Given the description of an element on the screen output the (x, y) to click on. 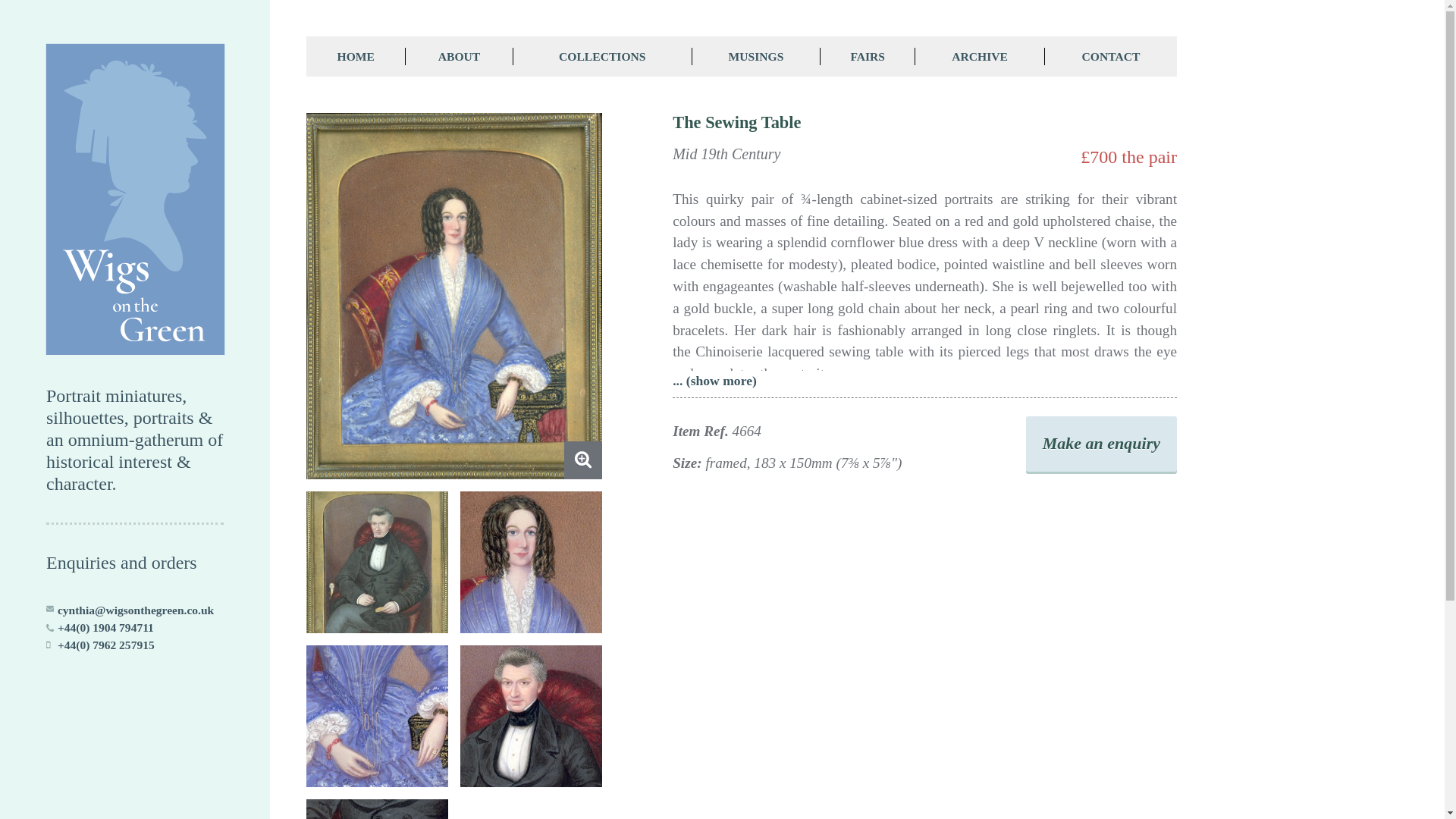
MUSINGS (757, 56)
CONTACT (1110, 56)
Make an enquiry (1101, 444)
ABOUT (459, 56)
ARCHIVE (980, 56)
FAIRS (868, 56)
COLLECTIONS (603, 56)
HOME (355, 56)
